Given the description of an element on the screen output the (x, y) to click on. 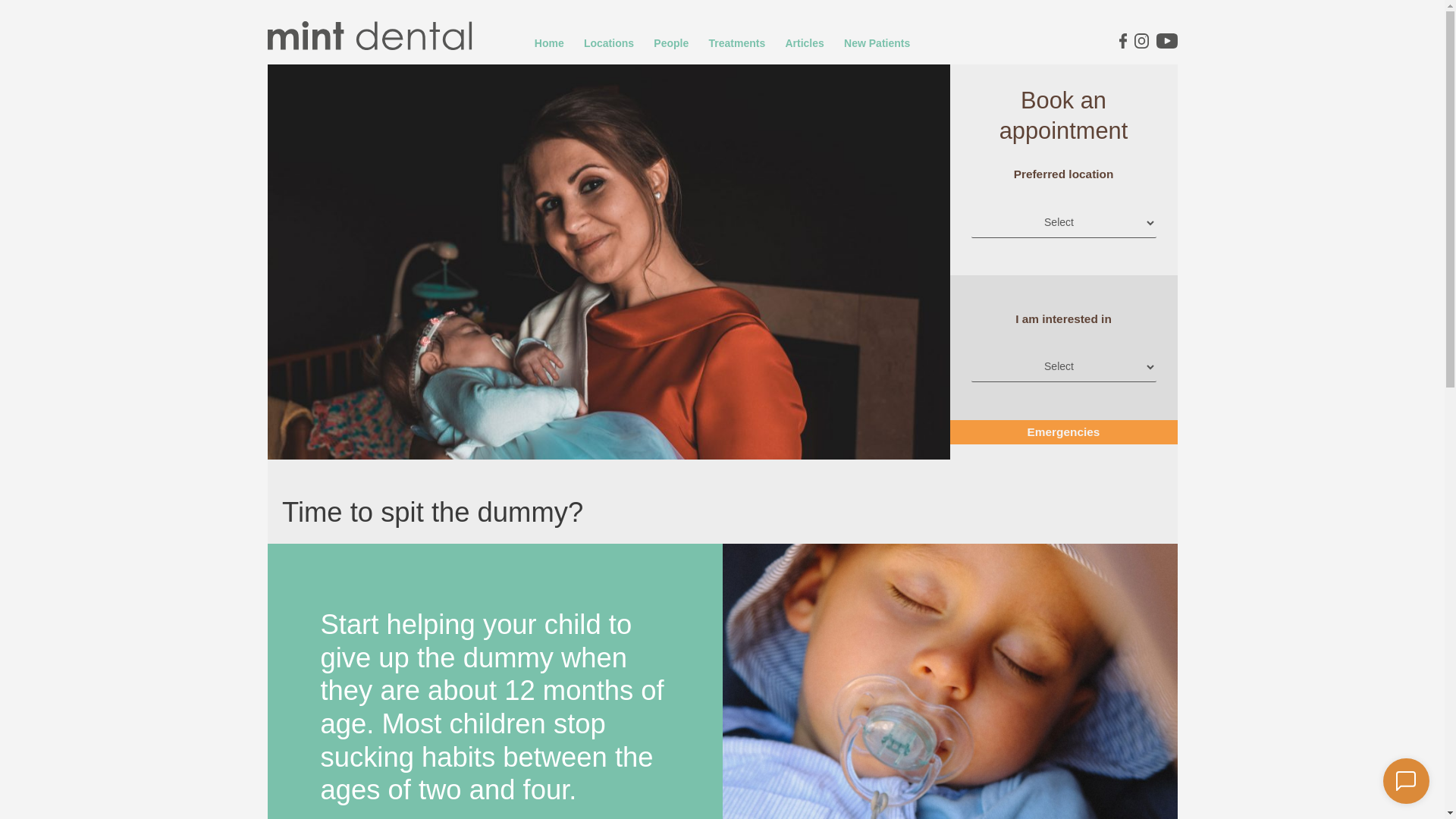
New Patients Element type: text (877, 42)
Locations Element type: text (609, 42)
indemandly Element type: hover (1406, 780)
People Element type: text (670, 42)
Emergencies Element type: text (1063, 432)
Treatments Element type: text (736, 42)
Home Element type: text (549, 42)
Articles Element type: text (804, 42)
